Given the description of an element on the screen output the (x, y) to click on. 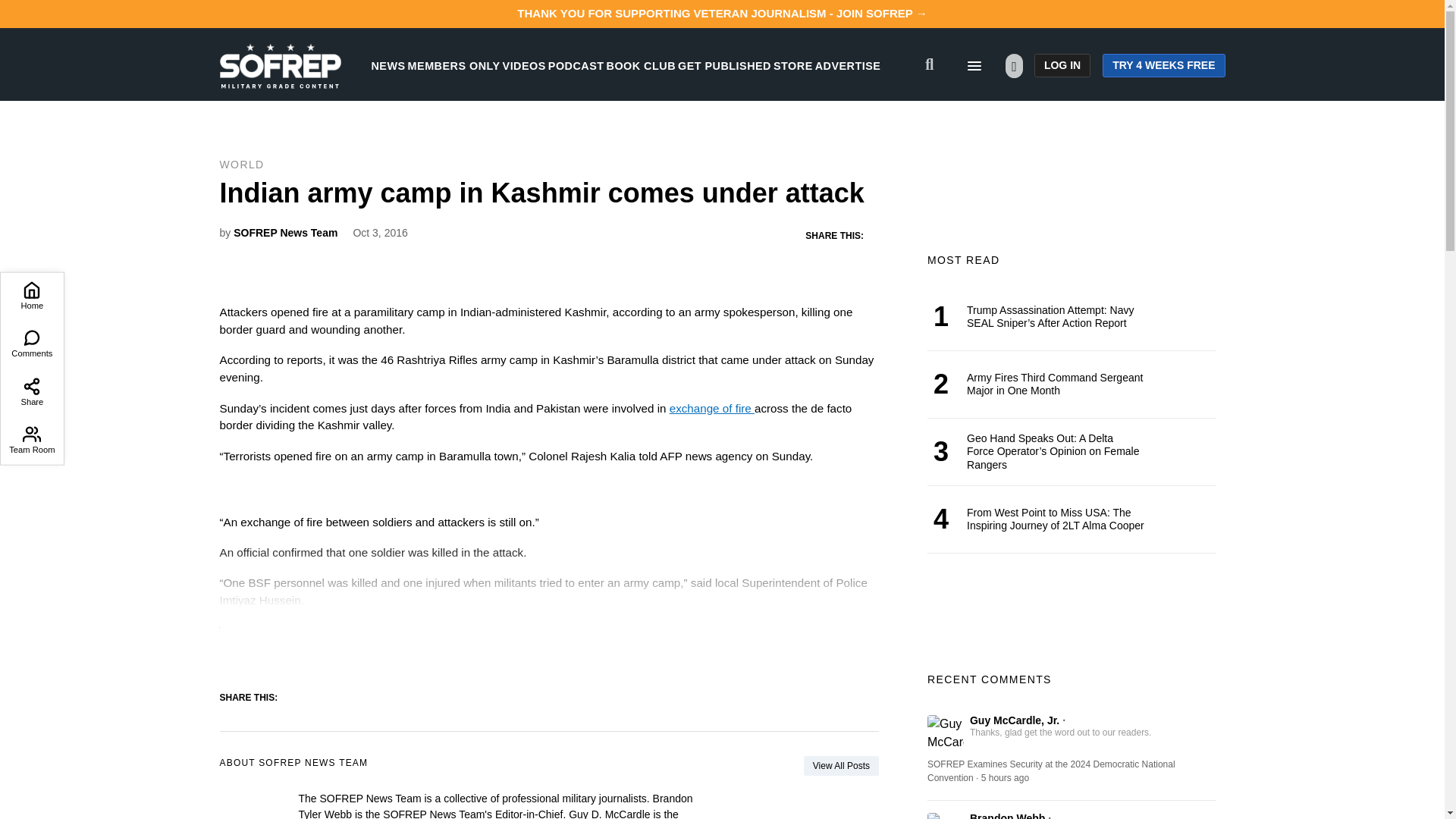
MEMBERS ONLY (453, 65)
PODCAST (576, 65)
TRY 4 WEEKS FREE (1163, 65)
GET PUBLISHED (724, 65)
ADVERTISE (847, 65)
NEWS (388, 65)
VIDEOS (524, 65)
BOOK CLUB (641, 65)
LOG IN (1061, 65)
STORE (792, 65)
